Given the description of an element on the screen output the (x, y) to click on. 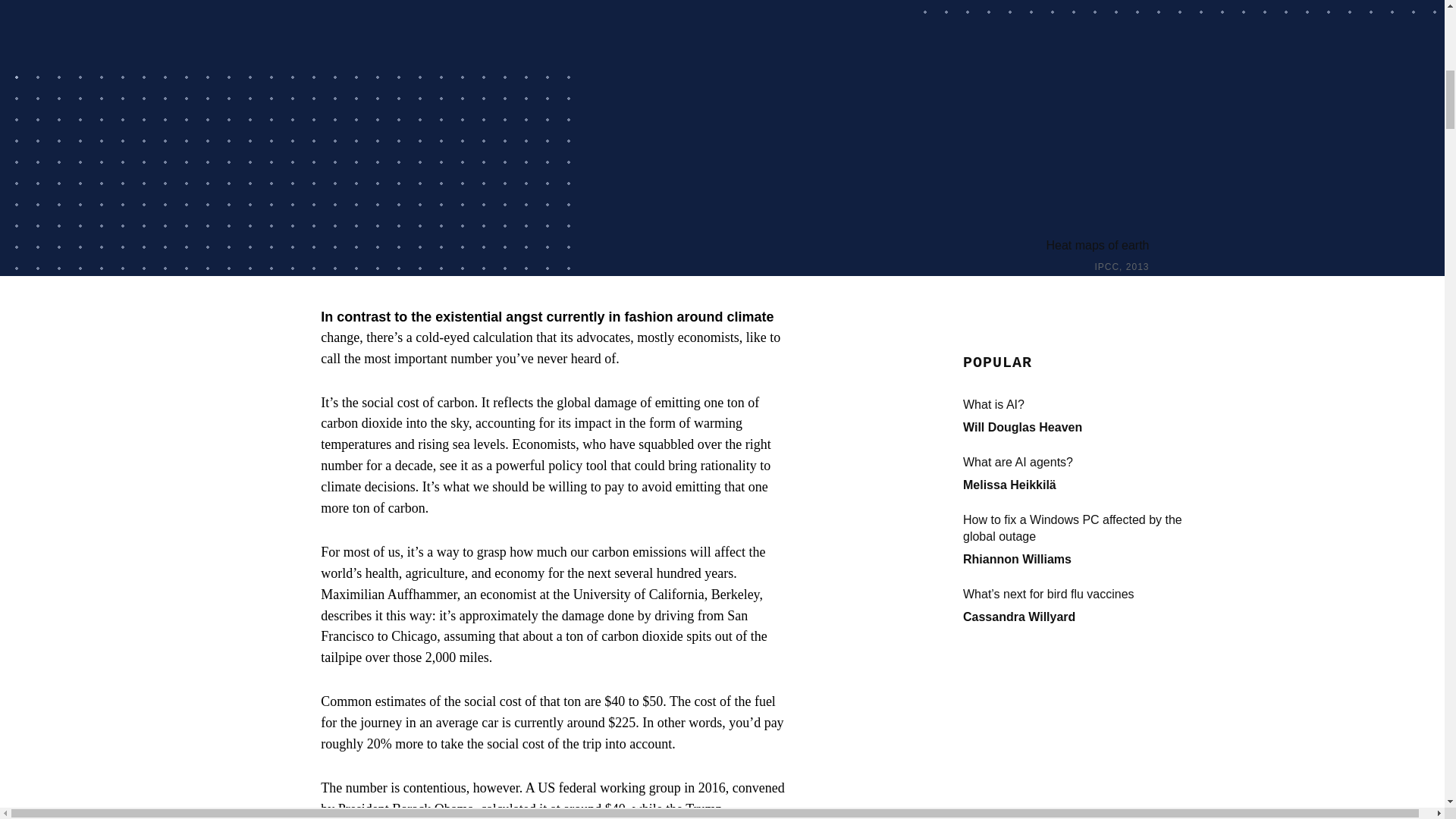
What are AI agents?  (1075, 462)
Will Douglas Heaven (1021, 427)
What is AI? (1075, 404)
How to fix a Windows PC affected by the global outage (1075, 528)
Rhiannon Williams (1016, 558)
Cassandra Willyard (1018, 616)
